Given the description of an element on the screen output the (x, y) to click on. 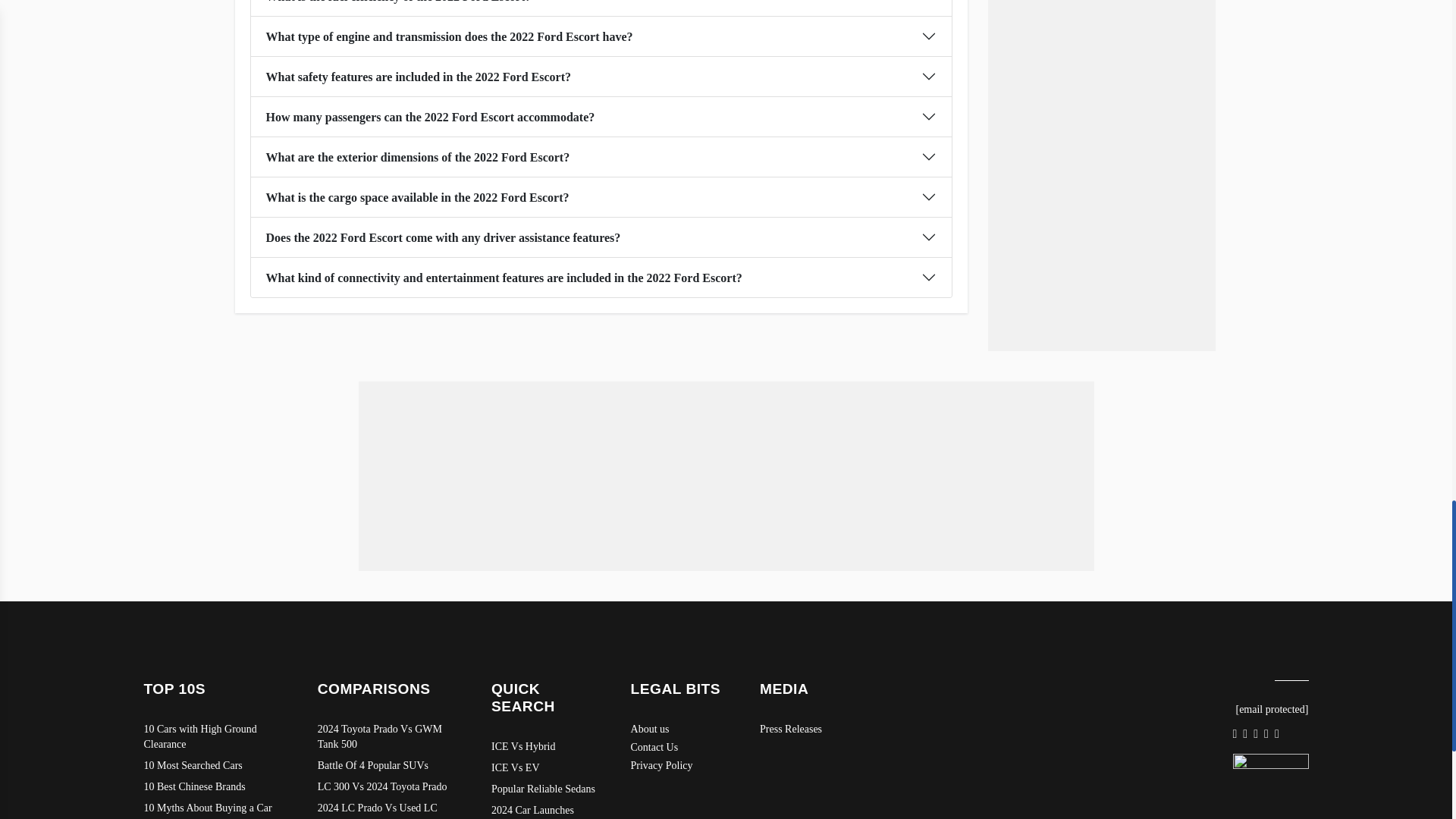
How many passengers can the 2022 Ford Escort accommodate? (600, 116)
10 Most Searched Cars (215, 765)
10 Cars with High Ground Clearance (215, 736)
What is the cargo space available in the 2022 Ford Escort? (600, 197)
What are the exterior dimensions of the 2022 Ford Escort? (600, 156)
10 Best Chinese Brands (215, 786)
What safety features are included in the 2022 Ford Escort? (600, 76)
What is the fuel efficiency of the 2022 Ford Escort? (600, 7)
10 Myths About Buying a Car (215, 807)
2024 Toyota Prado Vs GWM Tank 500 (389, 736)
